Given the description of an element on the screen output the (x, y) to click on. 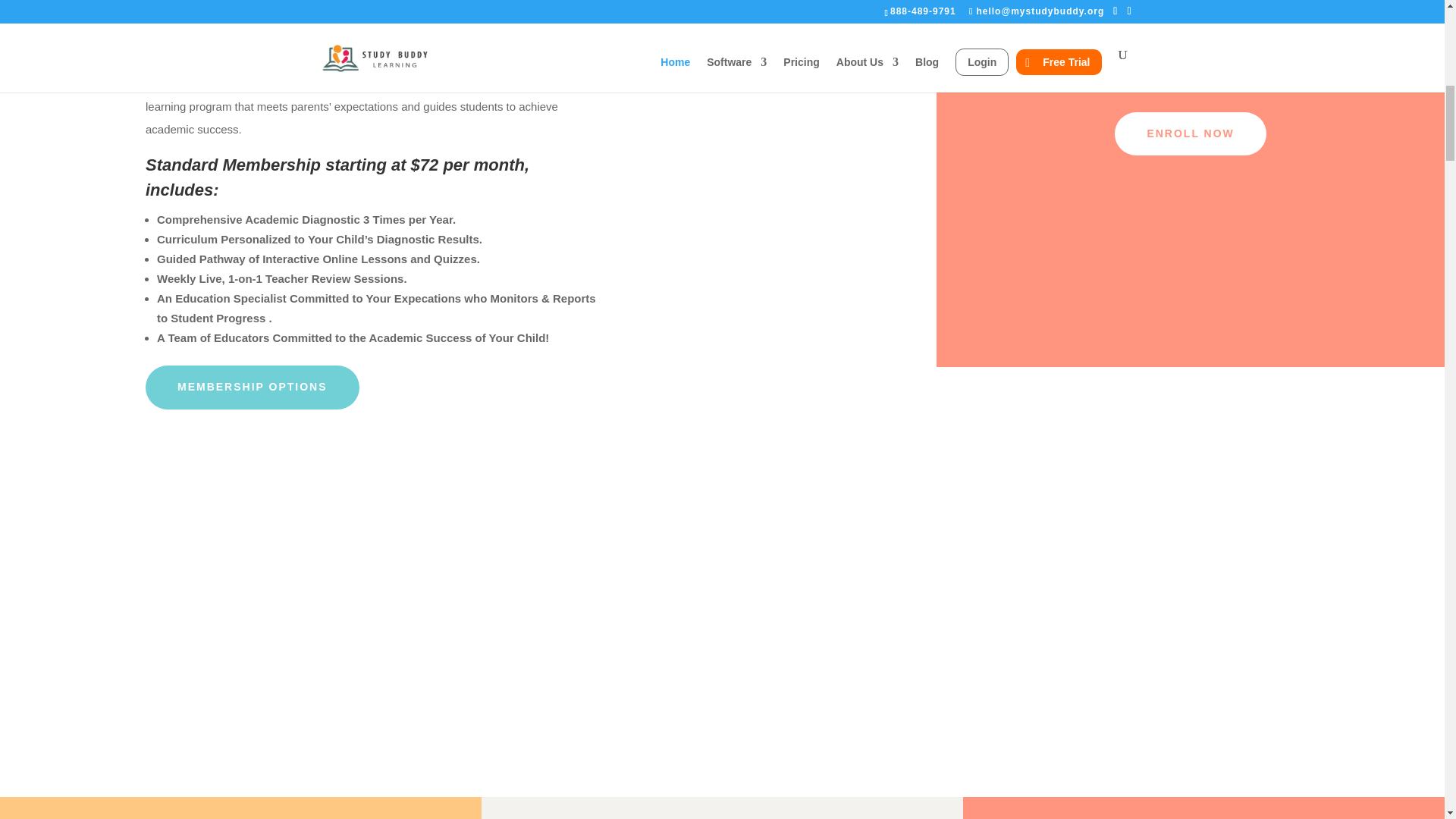
ENROLL NOW (1190, 134)
MEMBERSHIP OPTIONS (252, 387)
